Given the description of an element on the screen output the (x, y) to click on. 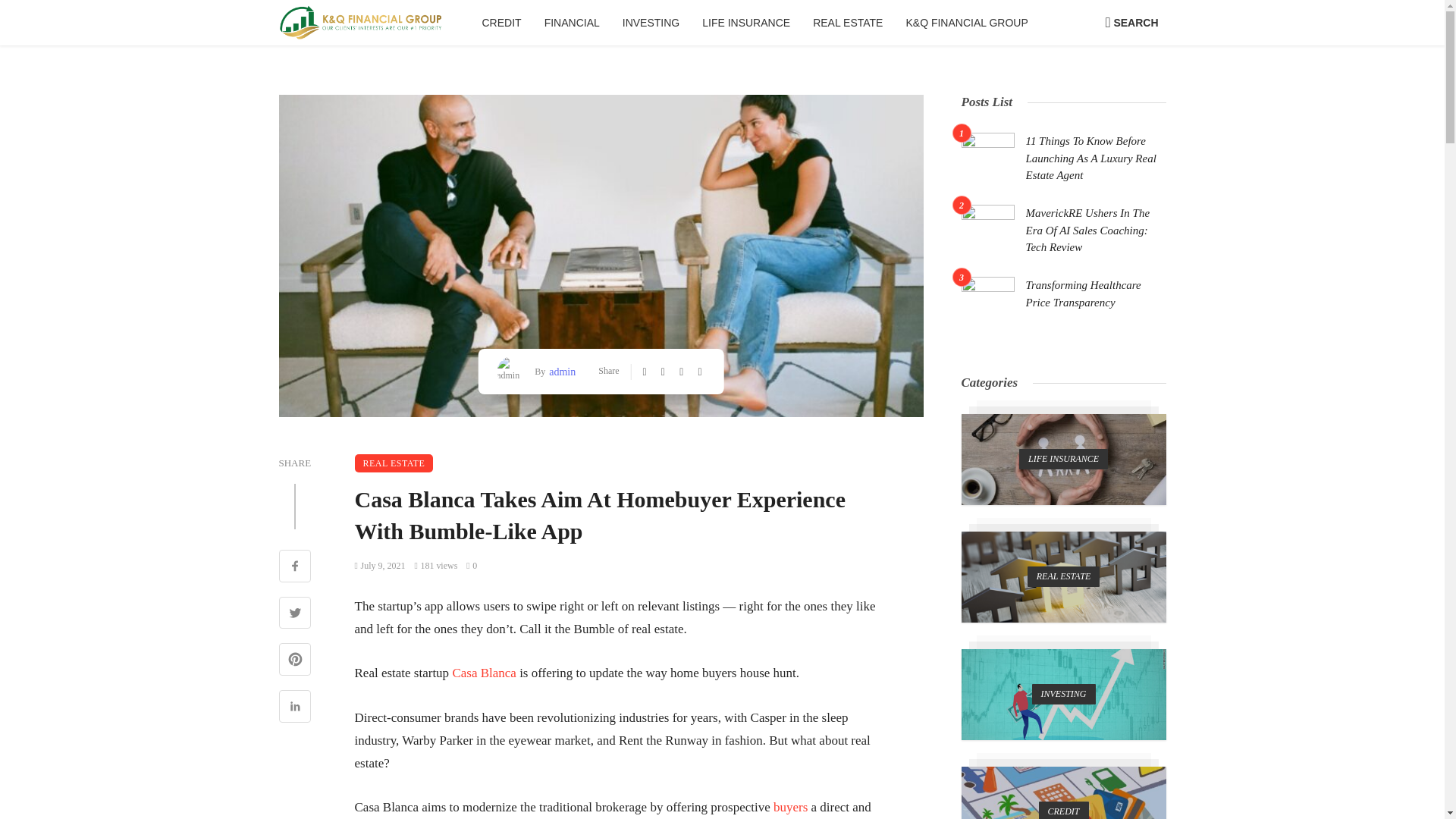
LIFE INSURANCE (746, 22)
Casa Blanca (483, 672)
REAL ESTATE (847, 22)
SEARCH (1131, 22)
FINANCIAL (571, 22)
July 9, 2021 at 9:39 pm (380, 565)
Posts by admin (559, 371)
buyers (790, 807)
INVESTING (650, 22)
Share on Facebook (295, 567)
REAL ESTATE (394, 463)
CREDIT (501, 22)
0 (471, 565)
Share on Twitter (295, 615)
0 Comments (471, 565)
